Given the description of an element on the screen output the (x, y) to click on. 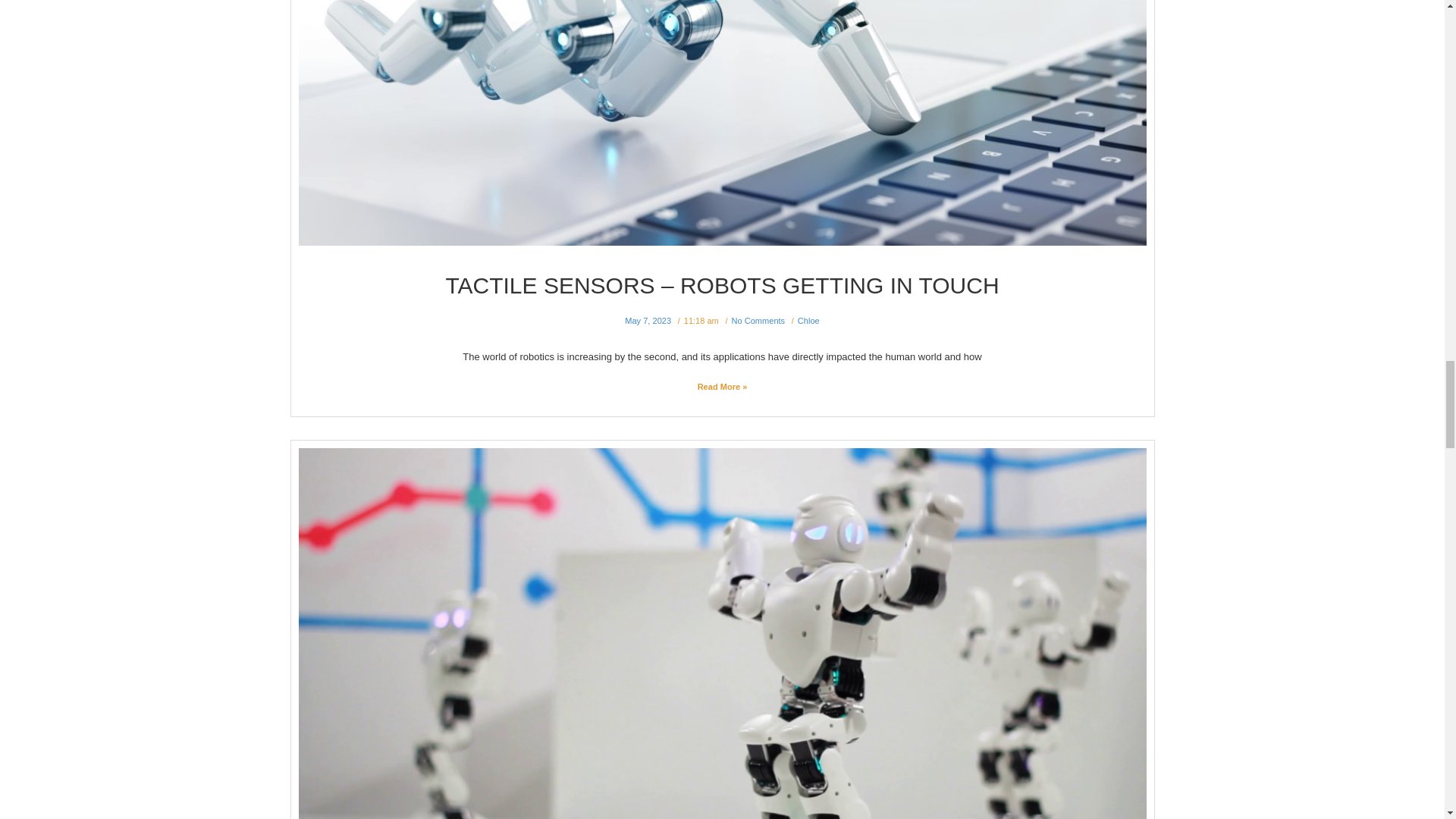
May 7, 2023 (647, 320)
No Comments (759, 320)
Chloe (808, 320)
